Given the description of an element on the screen output the (x, y) to click on. 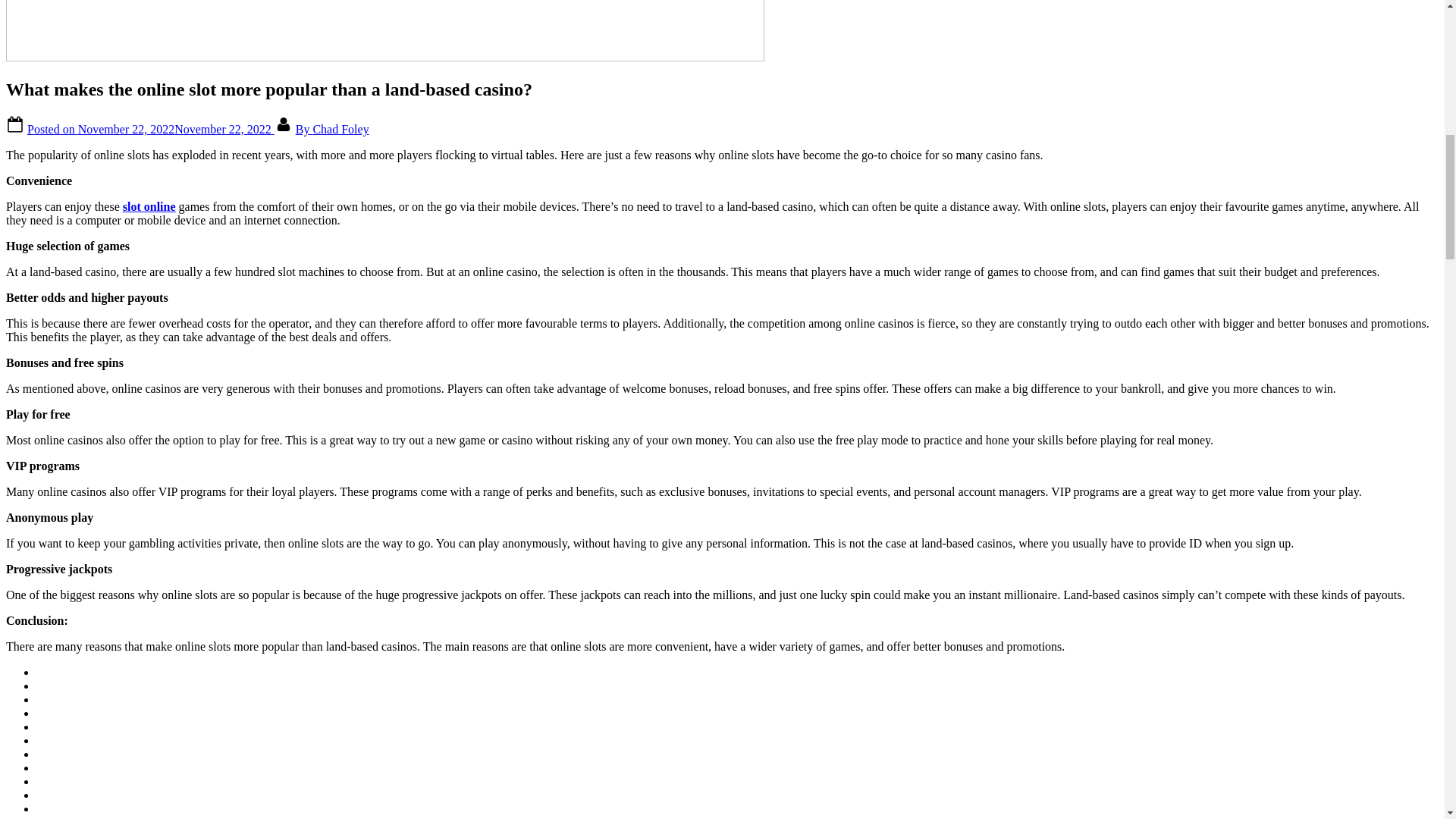
Posted on November 22, 2022November 22, 2022 (151, 128)
slot online (149, 205)
By Chad Foley (332, 128)
